Given the description of an element on the screen output the (x, y) to click on. 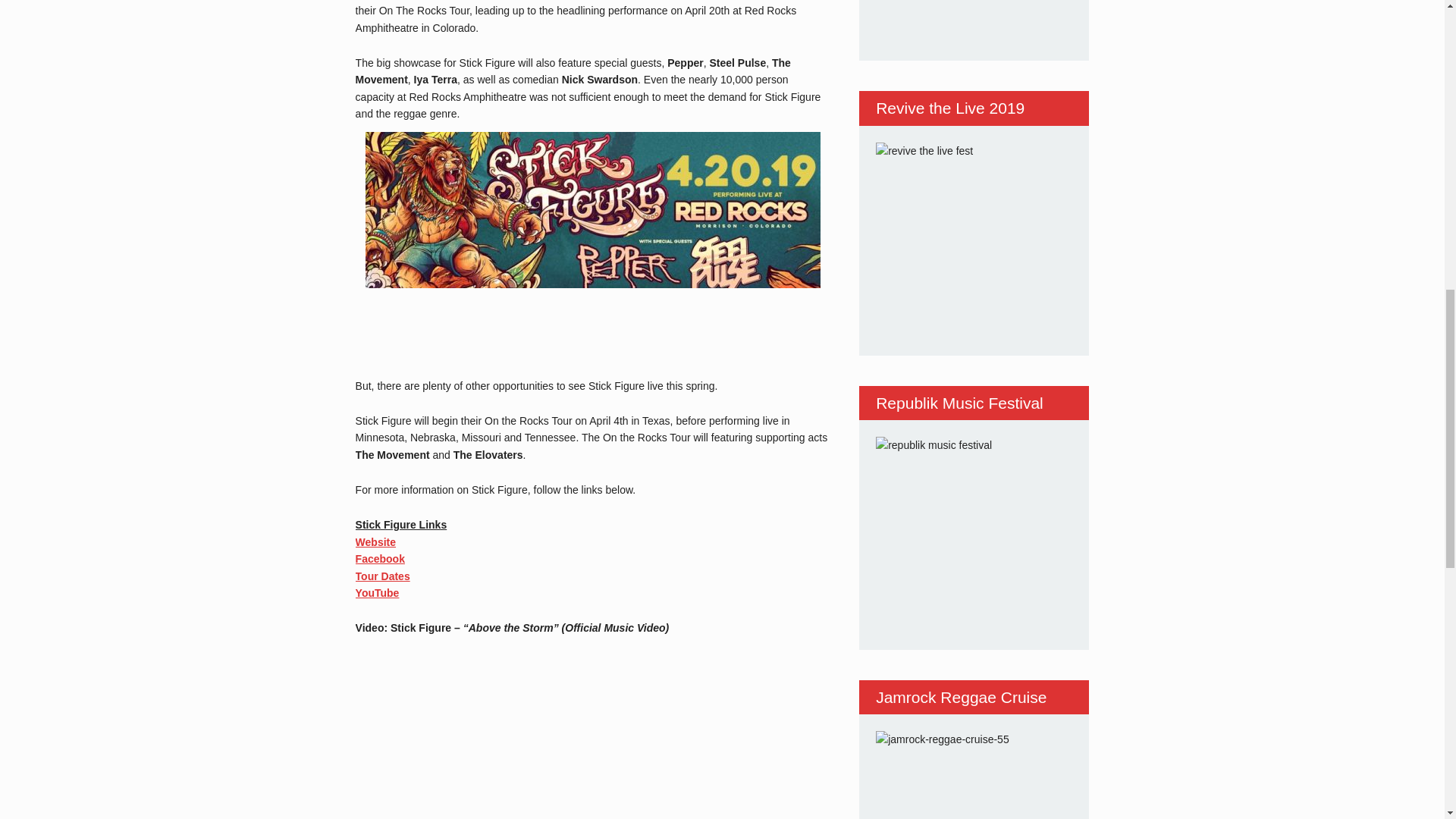
YouTube (376, 592)
Tour Dates (382, 576)
Website (375, 541)
Facebook (379, 558)
